Given the description of an element on the screen output the (x, y) to click on. 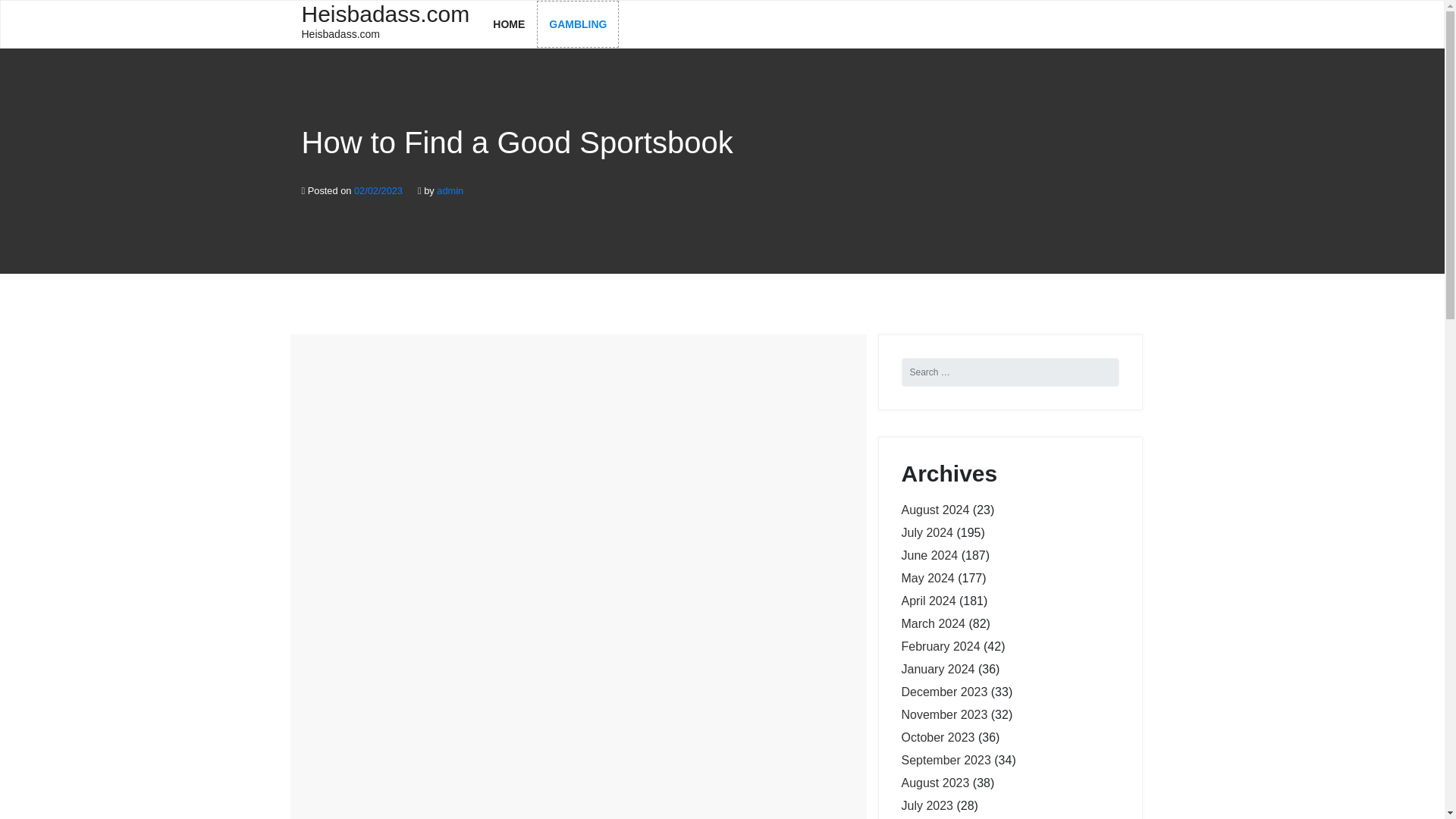
April 2024 (928, 600)
May 2024 (927, 577)
GAMBLING (577, 23)
February 2024 (940, 645)
March 2024 (385, 22)
admin (933, 623)
August 2023 (449, 190)
HOME (935, 782)
July 2023 (508, 23)
October 2023 (927, 805)
August 2024 (937, 737)
December 2023 (935, 509)
June 2024 (944, 691)
Home (929, 554)
